Given the description of an element on the screen output the (x, y) to click on. 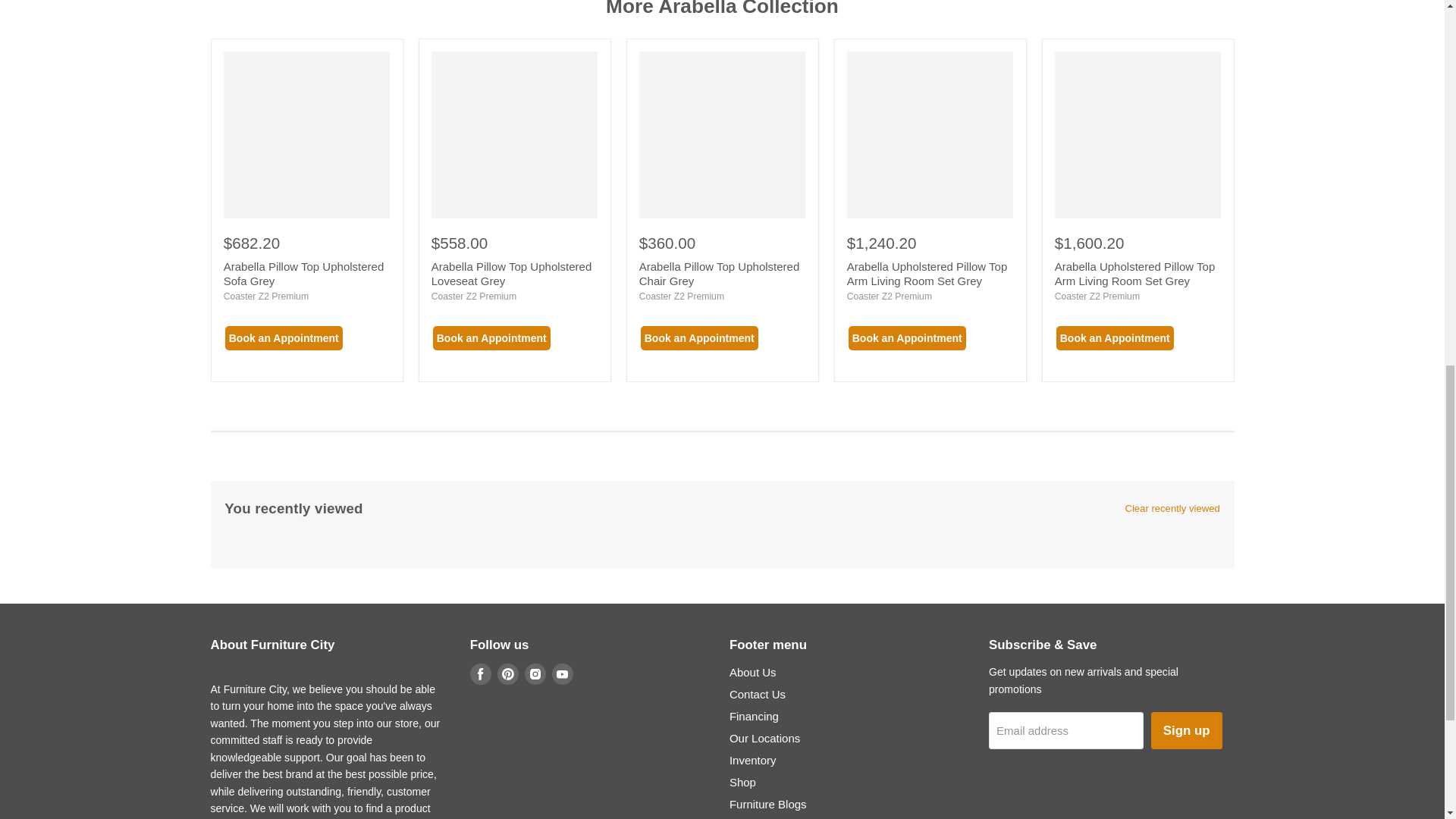
Coaster Z2 Premium (266, 296)
Coaster Z2 Premium (889, 296)
Coaster Z2 Premium (473, 296)
Coaster Z2 Premium (1097, 296)
Coaster Z2 Premium (681, 296)
Facebook (481, 673)
Instagram (535, 673)
Youtube (562, 673)
Pinterest (507, 673)
